Given the description of an element on the screen output the (x, y) to click on. 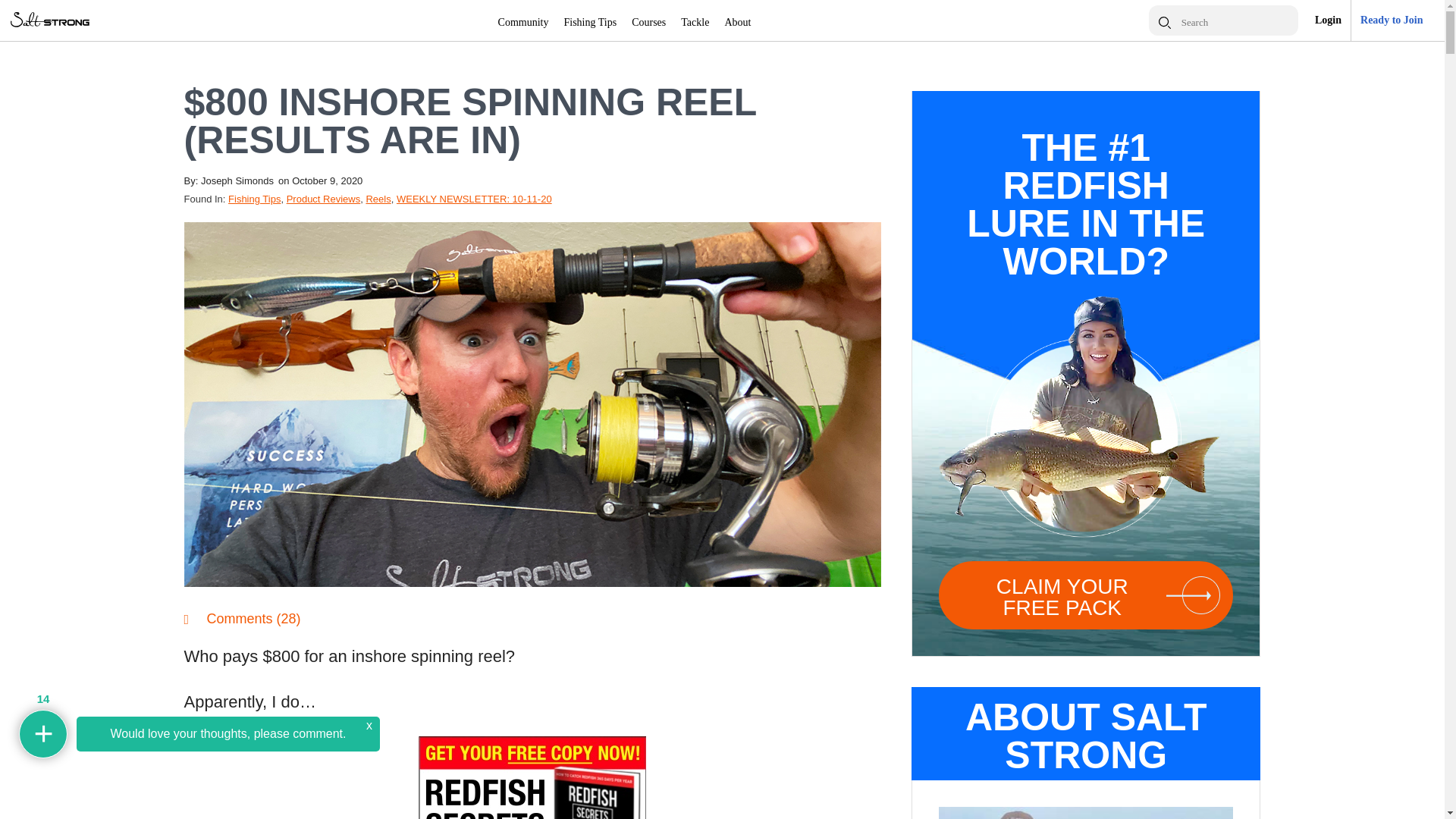
WEEKLY NEWSLETTER: 10-11-20 (473, 198)
Product Reviews (323, 198)
Fishing Tips (590, 23)
Login (1327, 20)
Reels (377, 198)
Tackle (695, 23)
Ready to Join (1390, 20)
Courses (648, 23)
Fishing Tips (254, 198)
Community (522, 23)
About (737, 23)
